Given the description of an element on the screen output the (x, y) to click on. 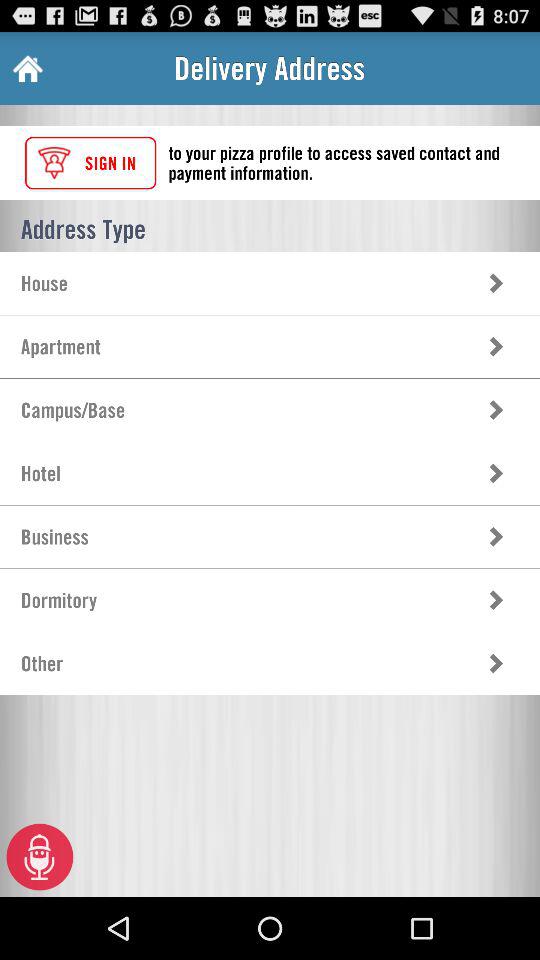
turn off icon above the sign in (26, 68)
